Given the description of an element on the screen output the (x, y) to click on. 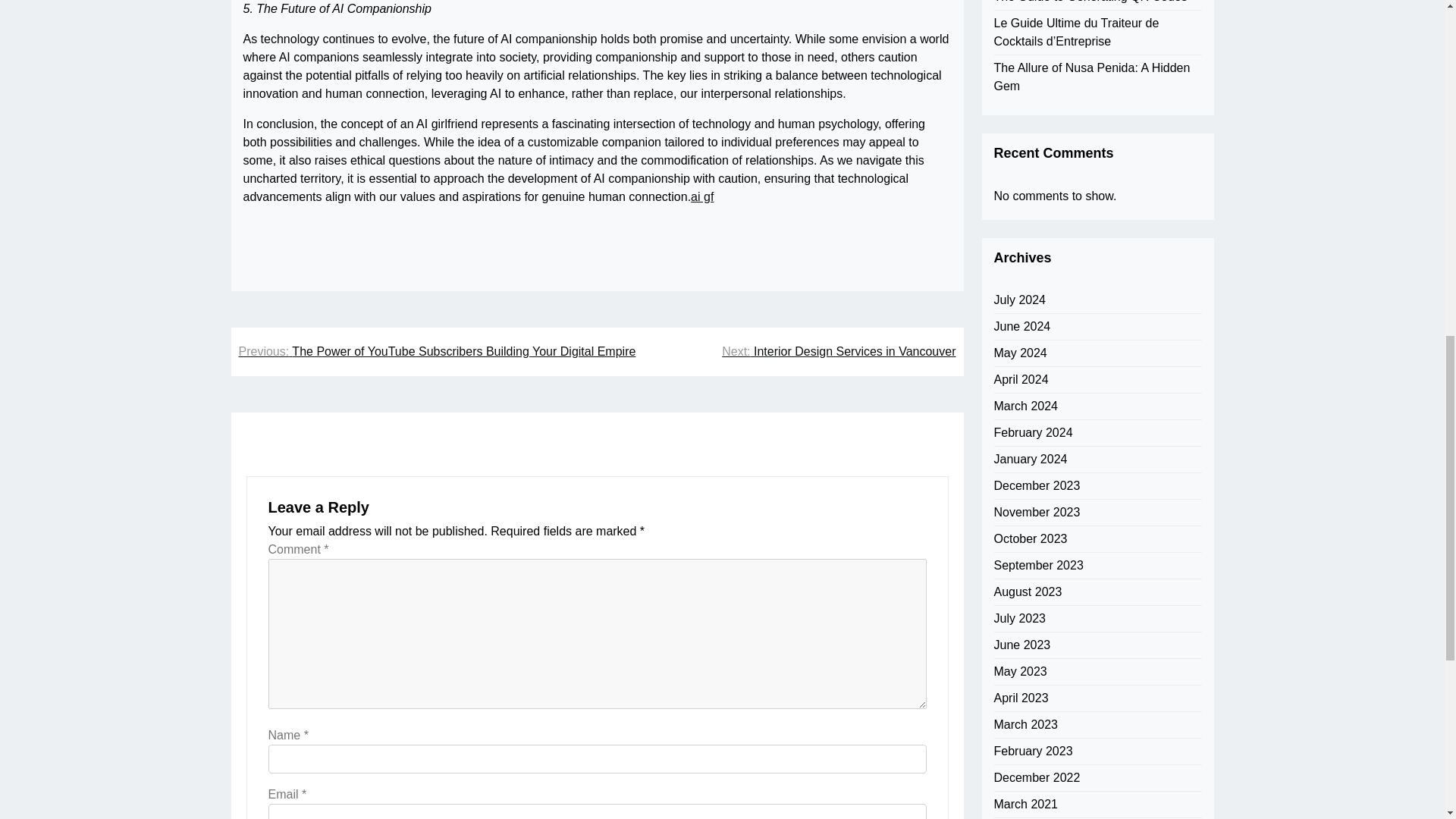
February 2024 (1031, 43)
ai gf (701, 197)
March 2024 (1025, 16)
January 2024 (1029, 69)
Next: Interior Design Services in Vancouver (838, 352)
